Given the description of an element on the screen output the (x, y) to click on. 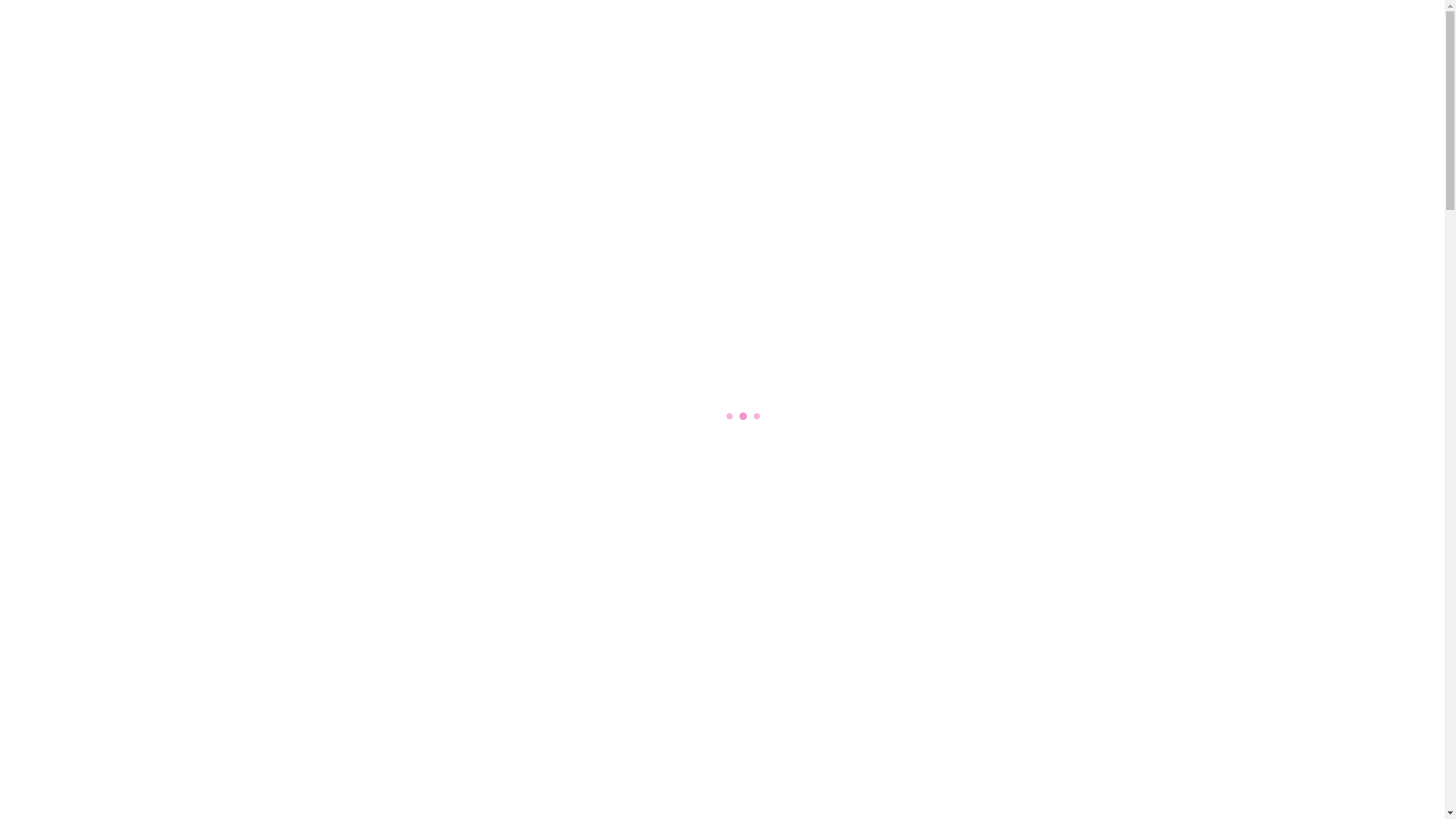
Contact Element type: text (1129, 17)
How we work with you Element type: text (875, 77)
Our Story Element type: text (755, 77)
Skip to content Element type: text (0, 0)
Diamond Education Element type: text (1022, 77)
Book your complimentary consultation Element type: text (388, 17)
Email Us Element type: text (1190, 17)
How else we help Element type: text (1153, 77)
